Given the description of an element on the screen output the (x, y) to click on. 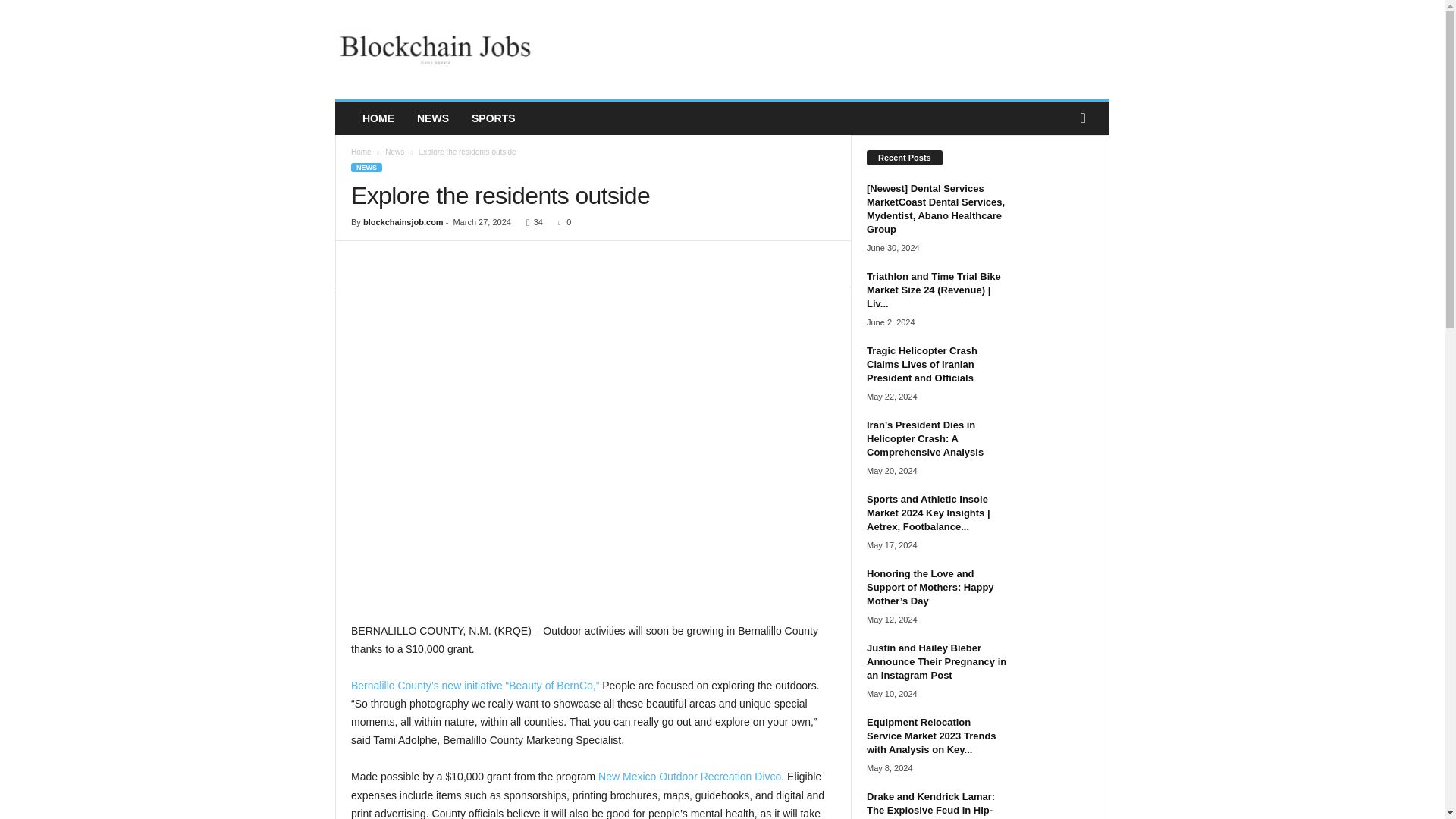
News (394, 152)
SPORTS (493, 118)
NEWS (433, 118)
0 (560, 221)
Blockchain Jobs (437, 48)
blockchainsjob.com (403, 221)
New Mexico Outdoor Recreation Divco (689, 776)
NEWS (365, 166)
View all posts in News (394, 152)
Home (360, 152)
